Given the description of an element on the screen output the (x, y) to click on. 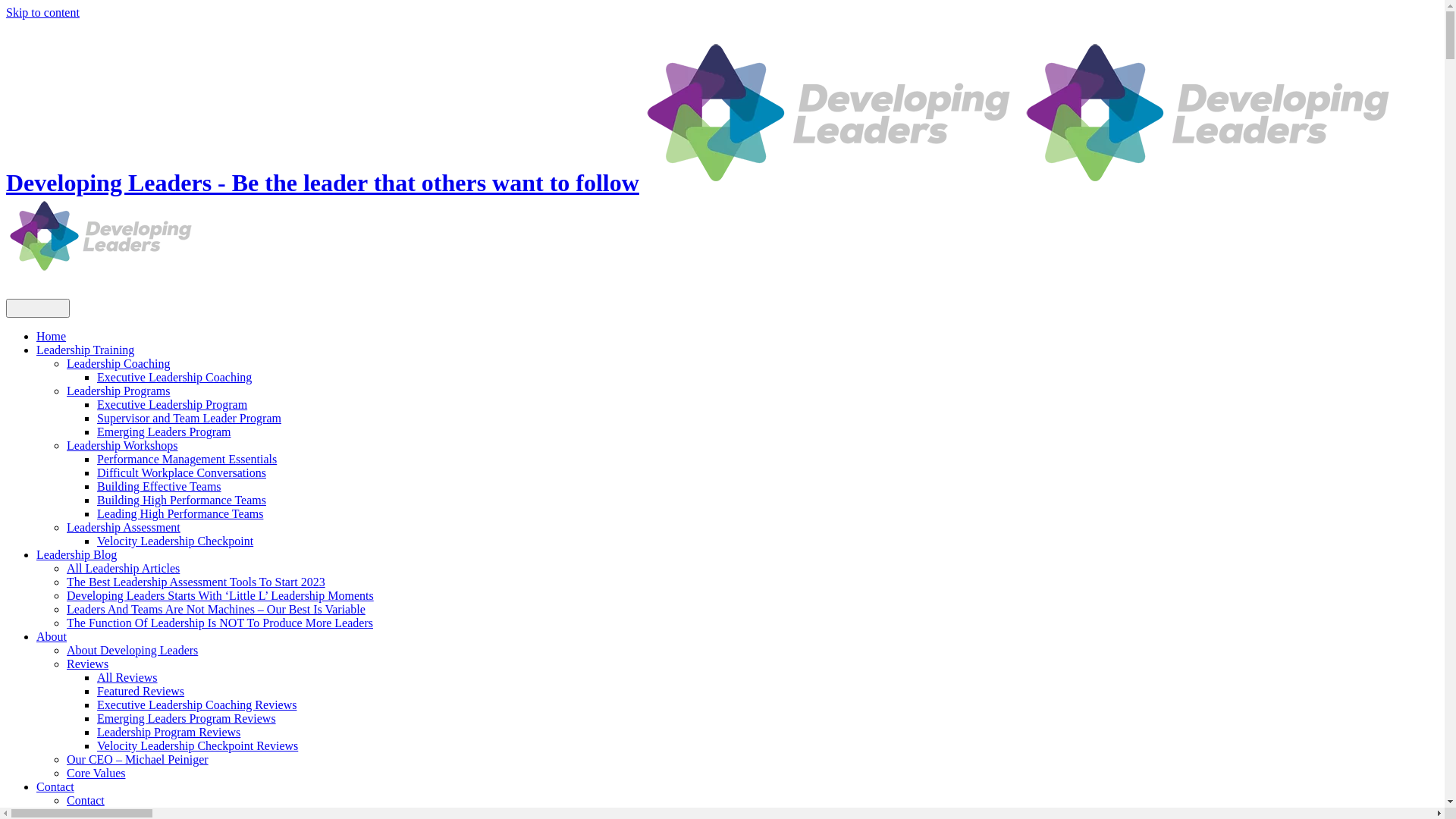
The Function Of Leadership Is NOT To Produce More Leaders Element type: text (219, 622)
Home Element type: text (50, 335)
Velocity Leadership Checkpoint Reviews Element type: text (197, 745)
Contact Element type: text (55, 786)
Developing Leaders Element type: hover (1207, 113)
Velocity Leadership Checkpoint Element type: text (175, 540)
Emerging Leaders Program Element type: text (164, 431)
Contact Element type: text (85, 799)
Supervisor and Team Leader Program Element type: text (189, 417)
Leadership Blog Element type: text (76, 554)
About Developing Leaders Element type: text (131, 649)
Leadership Program Reviews Element type: text (168, 731)
Building High Performance Teams Element type: text (181, 499)
Executive Leadership Coaching Reviews Element type: text (196, 704)
Building Effective Teams Element type: text (159, 486)
Difficult Workplace Conversations Element type: text (181, 472)
Leading High Performance Teams Element type: text (180, 513)
Reviews Element type: text (87, 663)
Emerging Leaders Program Reviews Element type: text (186, 718)
Leadership Programs Element type: text (117, 390)
Skip to content Element type: text (42, 12)
Performance Management Essentials Element type: text (186, 458)
Developing Leaders Element type: hover (100, 236)
The Best Leadership Assessment Tools To Start 2023 Element type: text (195, 581)
Featured Reviews Element type: text (140, 690)
All Leadership Articles Element type: text (122, 567)
Executive Leadership Coaching Element type: text (174, 376)
Leadership Workshops Element type: text (121, 445)
Leadership Training Element type: text (85, 349)
Leadership Assessment Element type: text (123, 526)
About Element type: text (51, 636)
Core Values Element type: text (95, 772)
Developing Leaders Element type: hover (828, 113)
Leadership Coaching Element type: text (117, 363)
Executive Leadership Program Element type: text (172, 404)
All Reviews Element type: text (127, 677)
